Given the description of an element on the screen output the (x, y) to click on. 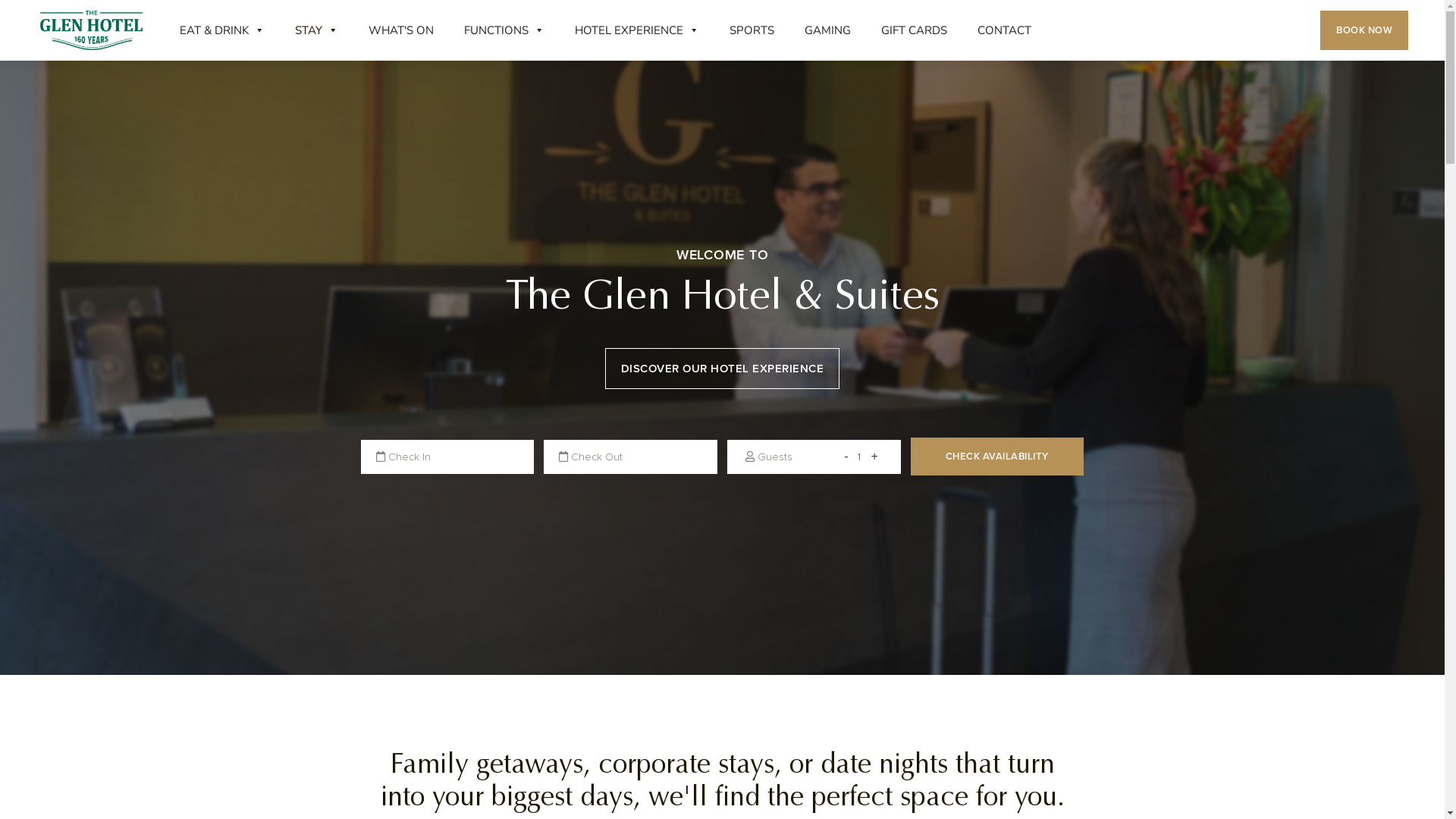
DISCOVER OUR HOTEL EXPERIENCE Element type: text (722, 368)
HOTEL EXPERIENCE Element type: text (636, 30)
STAY Element type: text (316, 30)
GIFT CARDS Element type: text (913, 30)
GAMING Element type: text (827, 30)
BOOK NOW Element type: text (1364, 30)
SPORTS Element type: text (751, 30)
CONTACT Element type: text (1003, 30)
EAT & DRINK Element type: text (222, 30)
WHAT'S ON Element type: text (400, 30)
+ Element type: text (873, 456)
FUNCTIONS Element type: text (504, 30)
- Element type: text (845, 456)
CHECK AVAILABILITY Element type: text (997, 456)
